Given the description of an element on the screen output the (x, y) to click on. 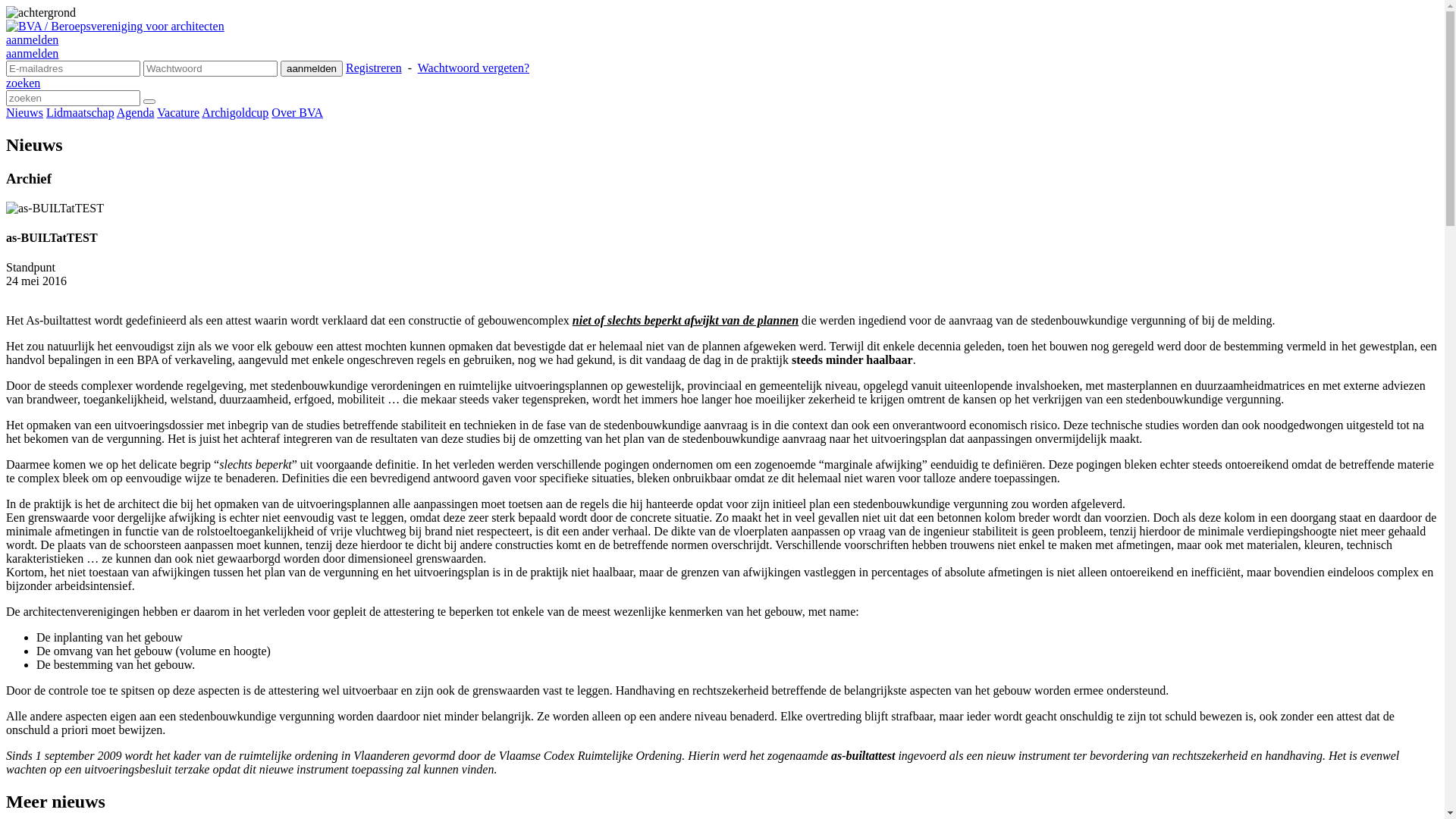
Wachtwoord vergeten? Element type: text (473, 67)
Nieuws Element type: text (24, 112)
Vacature Element type: text (177, 112)
Over BVA Element type: text (297, 112)
Agenda Element type: text (135, 112)
aanmelden Element type: text (32, 39)
Lidmaatschap Element type: text (80, 112)
zoeken Element type: text (23, 82)
Archigoldcup Element type: text (234, 112)
aanmelden Element type: text (32, 53)
Registreren Element type: text (373, 67)
aanmelden Element type: text (311, 68)
